Given the description of an element on the screen output the (x, y) to click on. 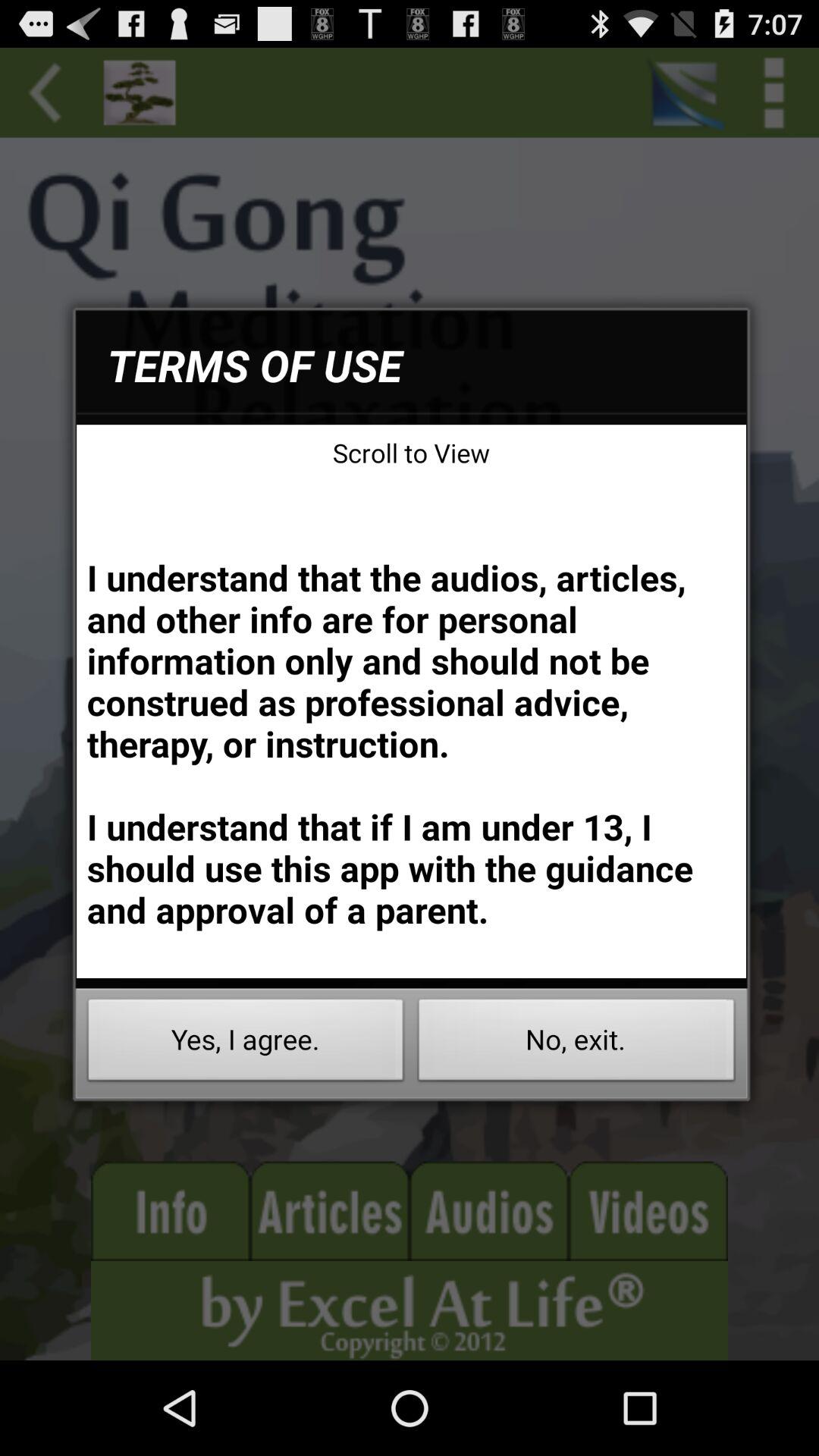
choose icon at the bottom right corner (576, 1044)
